Given the description of an element on the screen output the (x, y) to click on. 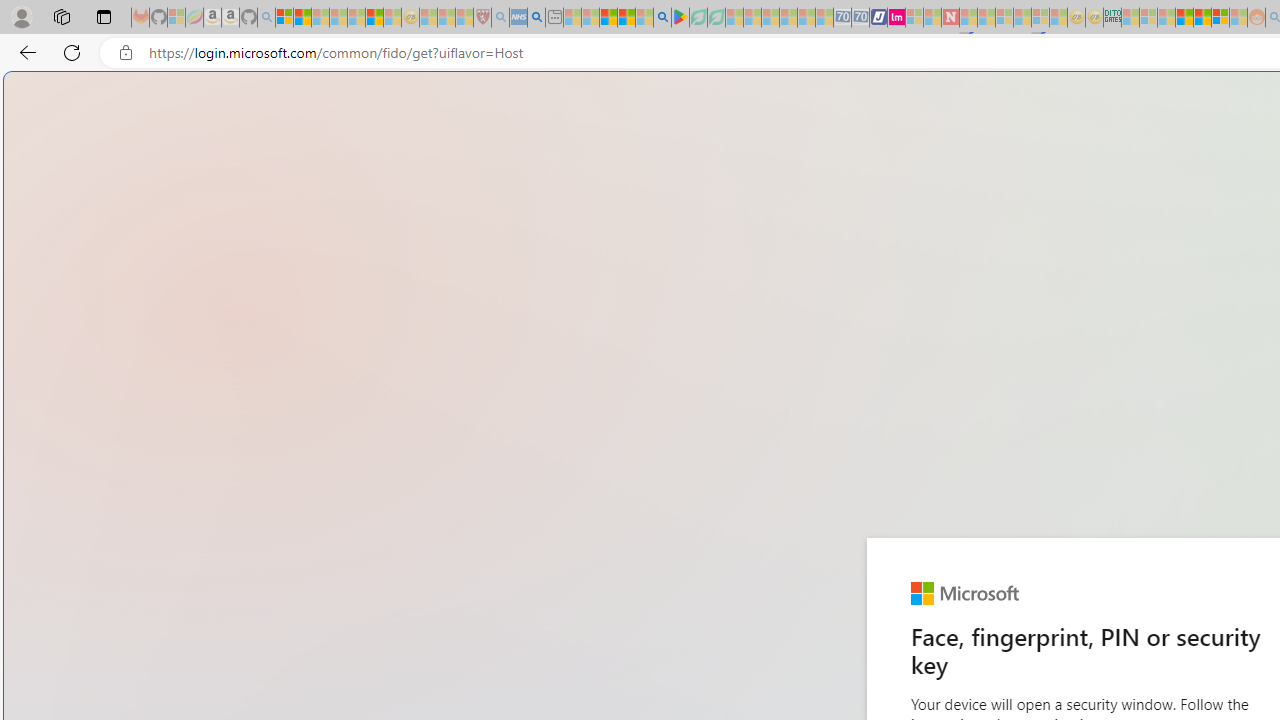
New Report Confirms 2023 Was Record Hot | Watch - Sleeping (356, 17)
utah sues federal government - Search (536, 17)
Kinda Frugal - MSN (1202, 17)
Jobs - lastminute.com Investor Portal (896, 17)
Terms of Use Agreement - Sleeping (697, 17)
Cheap Hotels - Save70.com - Sleeping (860, 17)
Local - MSN - Sleeping (464, 17)
